Given the description of an element on the screen output the (x, y) to click on. 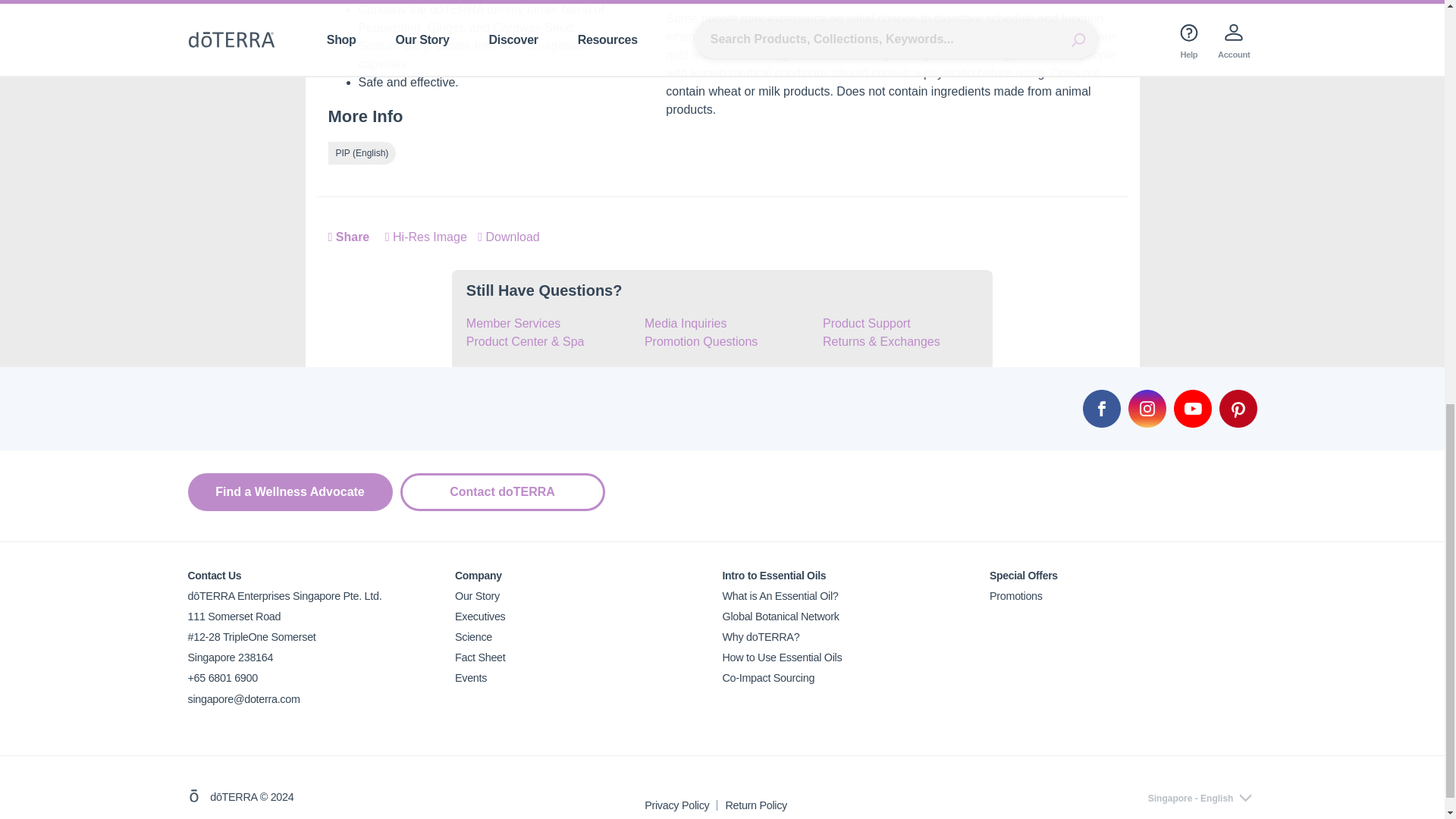
YouTube (1192, 408)
Pinterest (1238, 408)
Facebook (1102, 408)
Instagram (1147, 408)
